Given the description of an element on the screen output the (x, y) to click on. 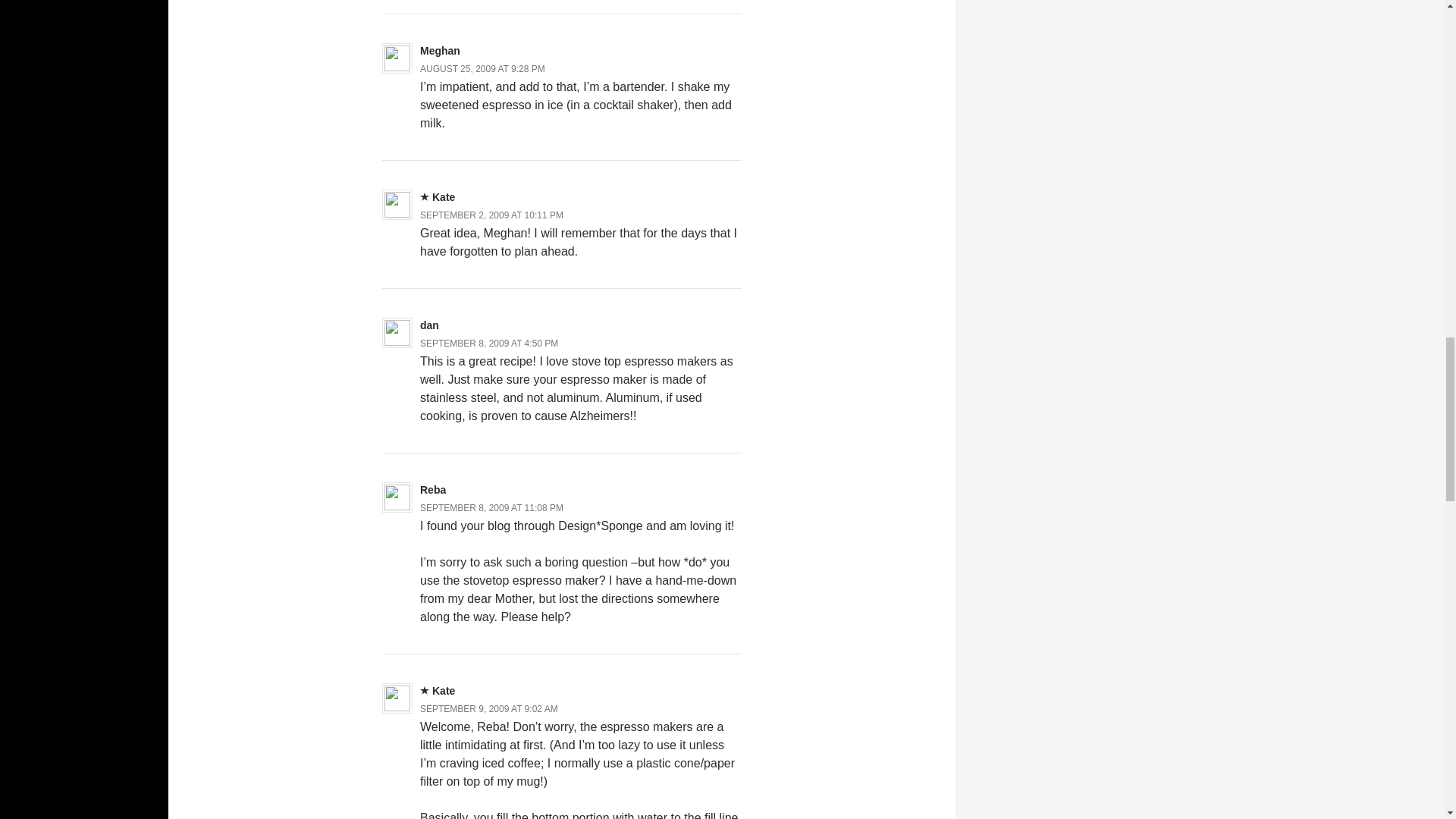
SEPTEMBER 8, 2009 AT 11:08 PM (491, 507)
SEPTEMBER 2, 2009 AT 10:11 PM (491, 214)
SEPTEMBER 9, 2009 AT 9:02 AM (488, 708)
AUGUST 25, 2009 AT 9:28 PM (482, 68)
Kate (443, 689)
SEPTEMBER 8, 2009 AT 4:50 PM (488, 343)
